Given the description of an element on the screen output the (x, y) to click on. 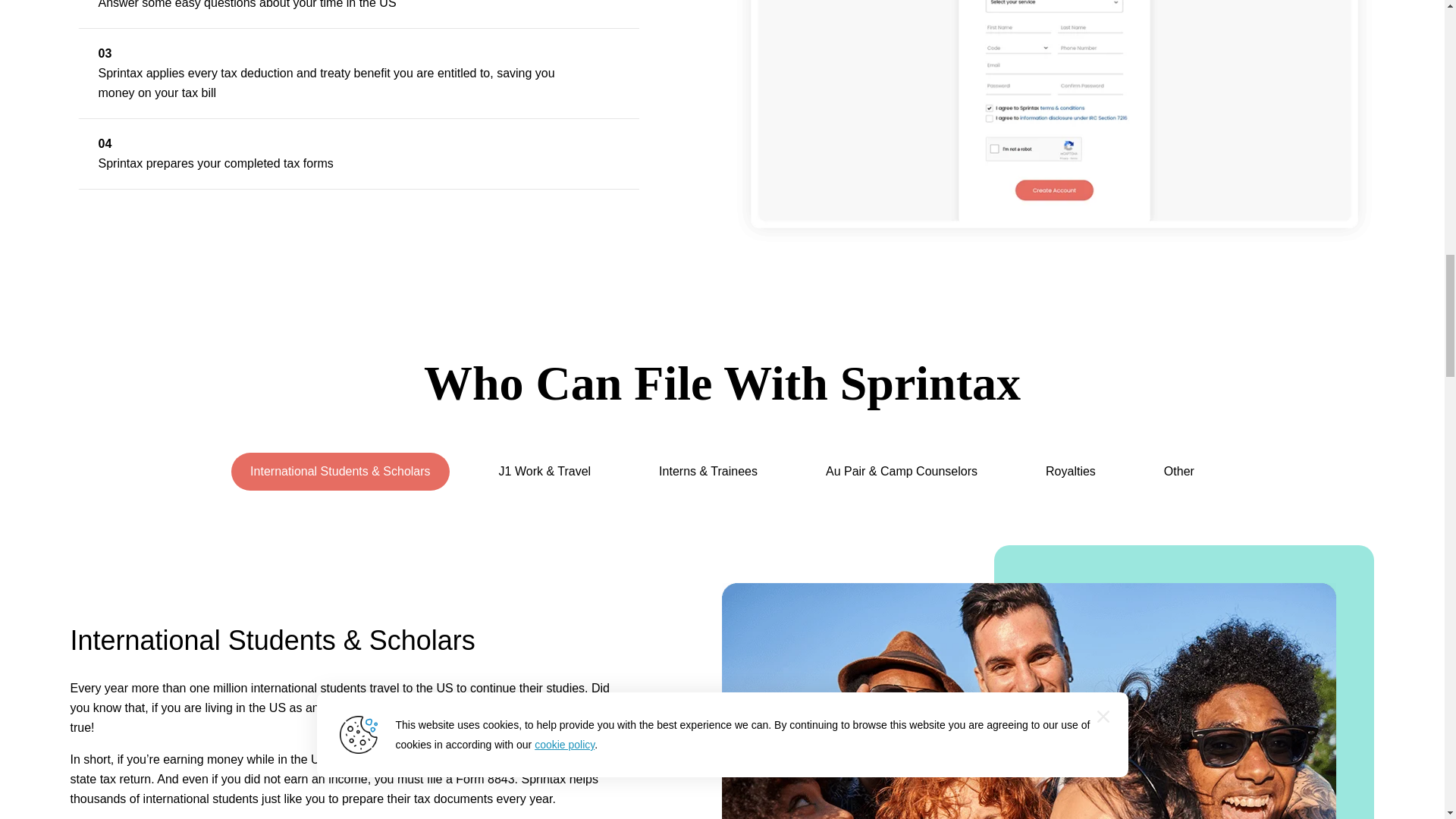
Other (1178, 471)
Royalties (1070, 471)
